Given the description of an element on the screen output the (x, y) to click on. 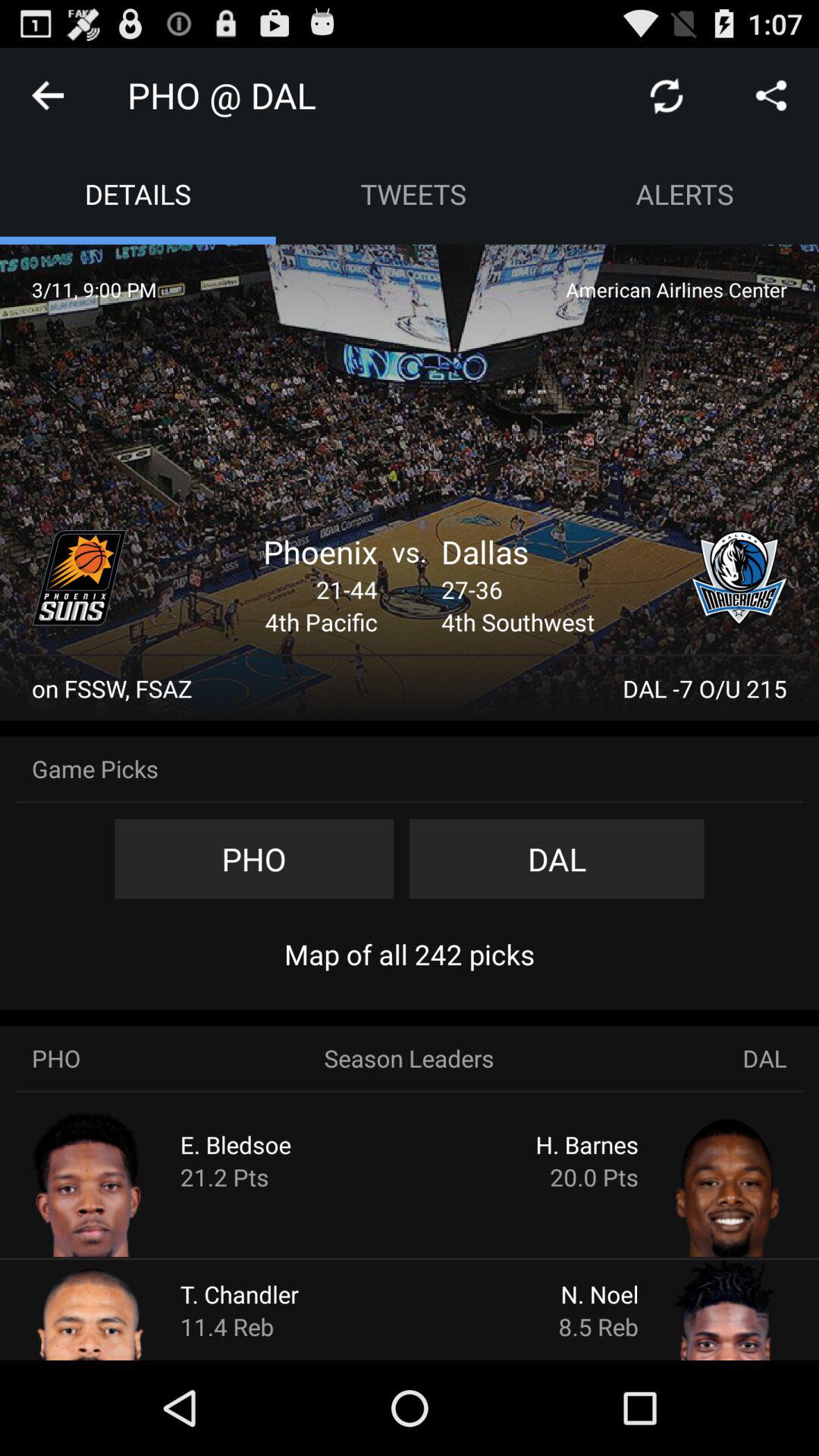
player details (699, 1309)
